Given the description of an element on the screen output the (x, y) to click on. 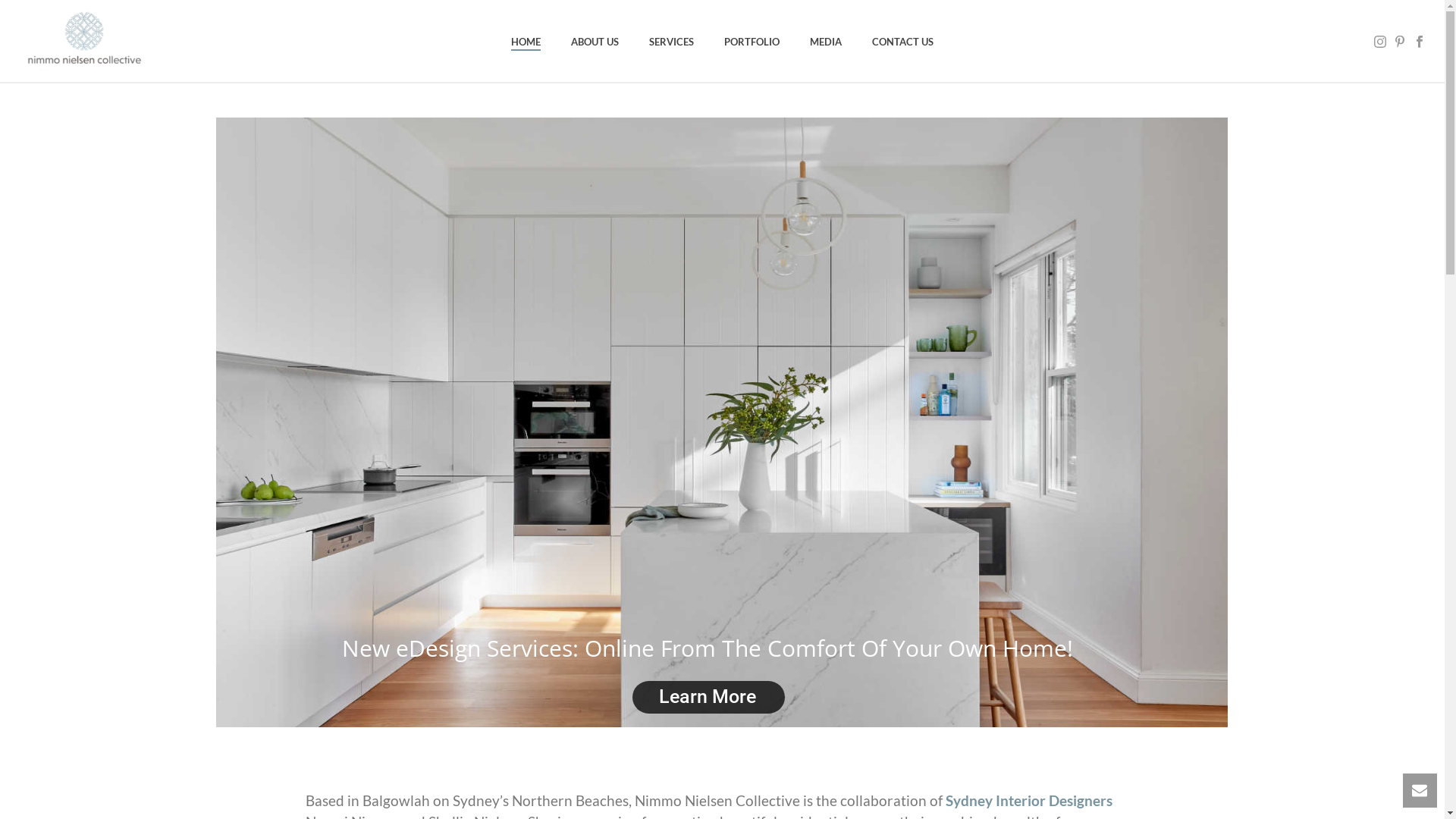
SERVICES Element type: text (671, 41)
CONTACT US Element type: text (902, 41)
HOME Element type: text (525, 41)
PORTFOLIO Element type: text (751, 41)
MEDIA Element type: text (825, 41)
Interior Design Northern Beaches Element type: hover (84, 40)
ABOUT US Element type: text (594, 41)
